Given the description of an element on the screen output the (x, y) to click on. 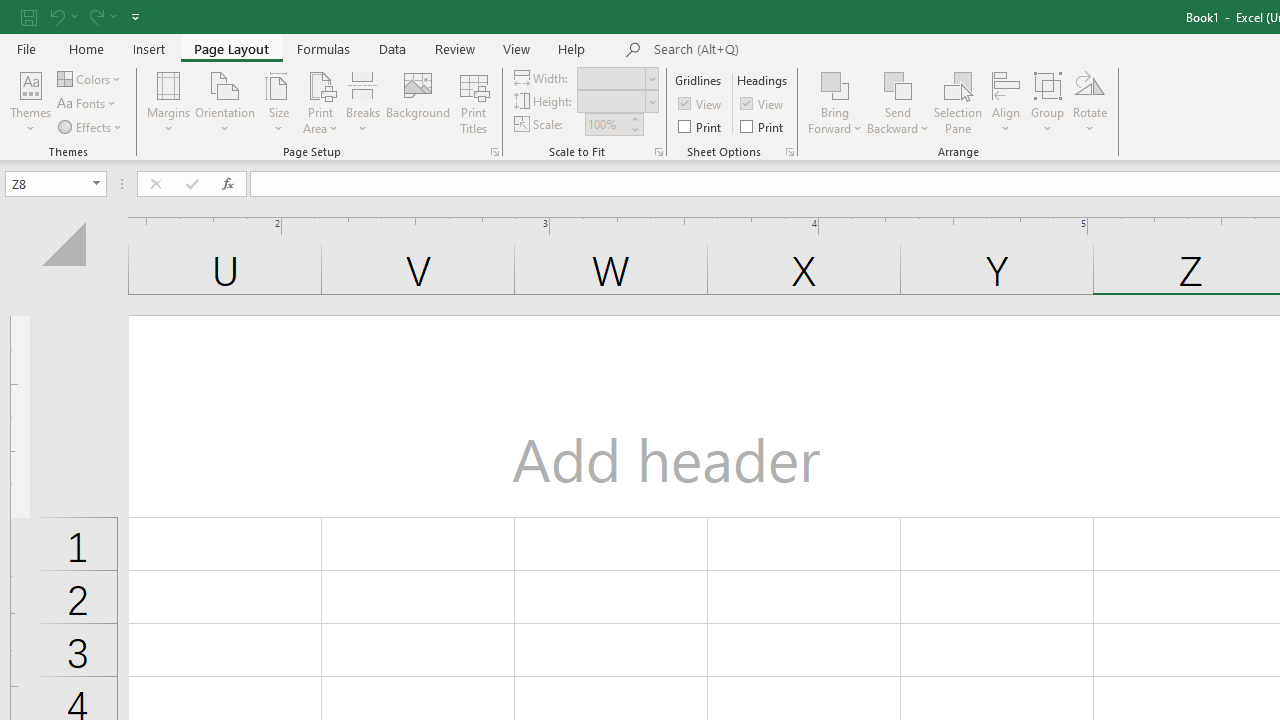
Insert (149, 48)
Height (611, 101)
Page Setup (658, 151)
More (633, 118)
Width (618, 78)
Formulas (323, 48)
Group (1047, 102)
Home (86, 48)
Redo (102, 15)
View (517, 48)
Fonts (87, 103)
Print (763, 126)
Breaks (362, 102)
Undo (56, 15)
